Given the description of an element on the screen output the (x, y) to click on. 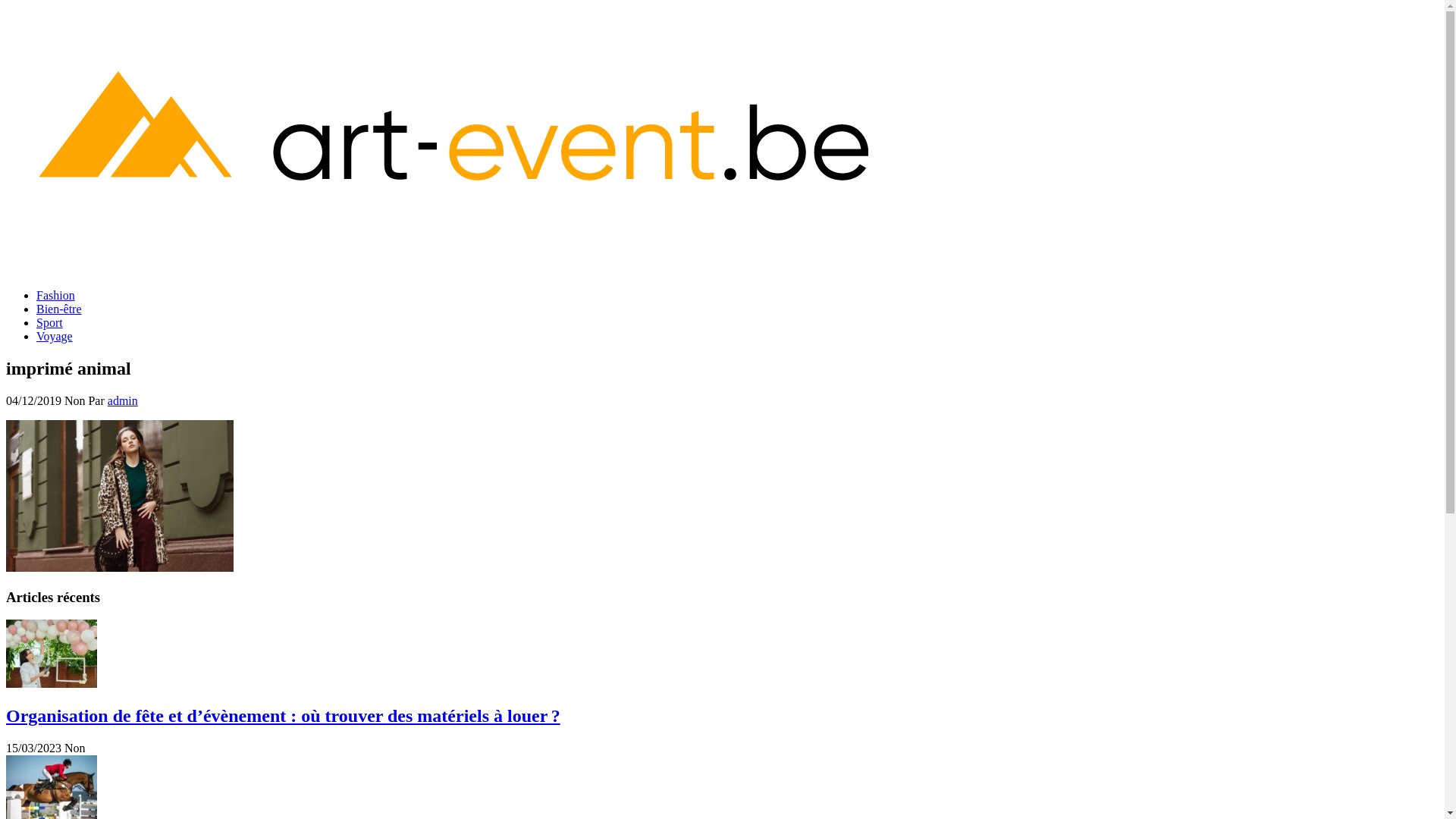
Art-event Element type: text (29, 294)
Fashion Element type: text (55, 294)
Voyage Element type: text (54, 335)
Sport Element type: text (49, 322)
admin Element type: text (122, 400)
